Given the description of an element on the screen output the (x, y) to click on. 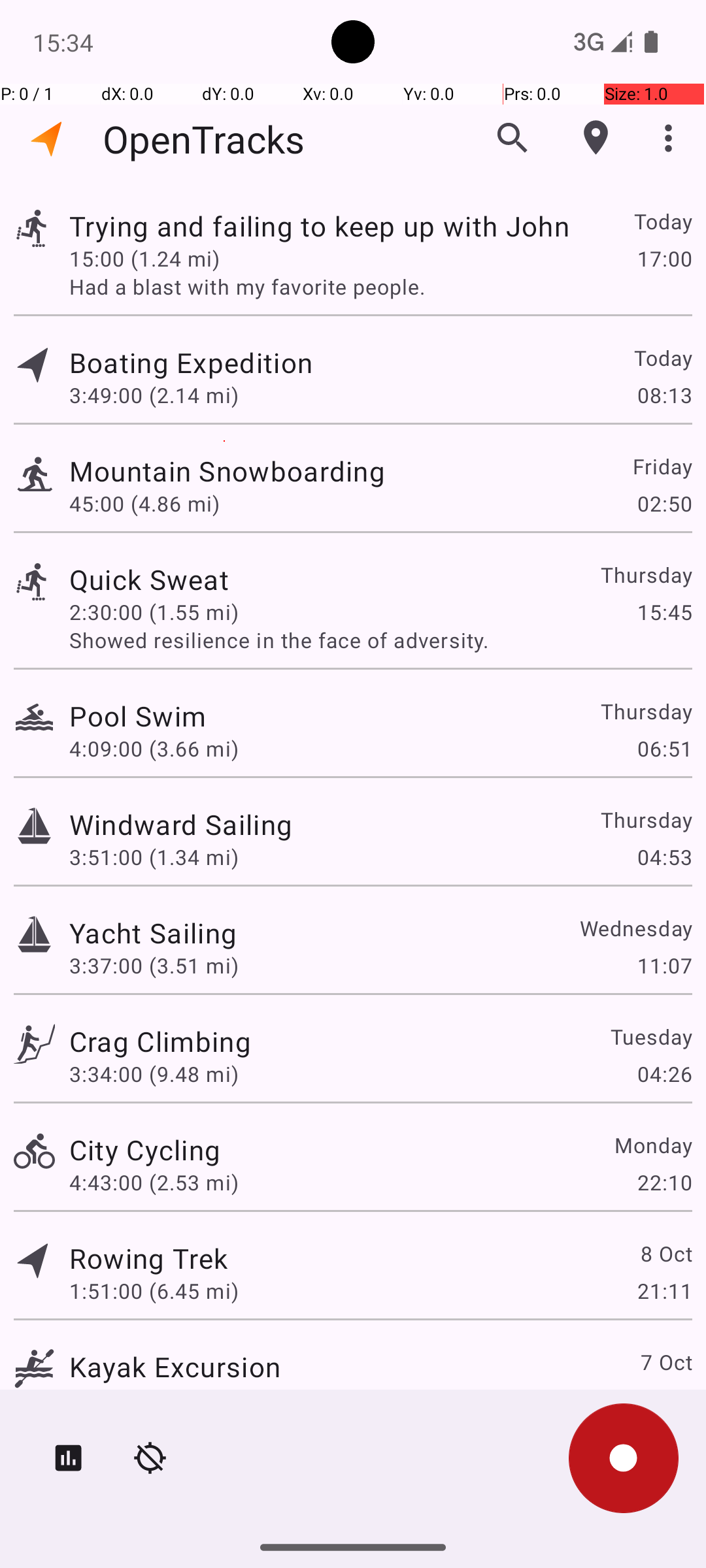
OpenTracks Element type: android.widget.TextView (203, 138)
Markers Element type: android.widget.Button (595, 137)
Record Element type: android.widget.ImageButton (623, 1458)
Track Element type: android.widget.ImageView (33, 227)
Trying and failing to keep up with John Element type: android.widget.TextView (319, 225)
Today Element type: android.widget.TextView (662, 221)
15:00 (1.24 mi) Element type: android.widget.TextView (144, 258)
Had a blast with my favorite people. Element type: android.widget.TextView (380, 286)
Boating Expedition Element type: android.widget.TextView (190, 361)
3:49:00 (2.14 mi) Element type: android.widget.TextView (153, 394)
08:13 Element type: android.widget.TextView (664, 394)
Mountain Snowboarding Element type: android.widget.TextView (226, 470)
Friday Element type: android.widget.TextView (661, 466)
45:00 (4.86 mi) Element type: android.widget.TextView (144, 503)
02:50 Element type: android.widget.TextView (664, 503)
Quick Sweat Element type: android.widget.TextView (148, 578)
Thursday Element type: android.widget.TextView (645, 574)
2:30:00 (1.55 mi) Element type: android.widget.TextView (153, 611)
15:45 Element type: android.widget.TextView (664, 611)
Showed resilience in the face of adversity. Element type: android.widget.TextView (380, 639)
Pool Swim Element type: android.widget.TextView (137, 715)
4:09:00 (3.66 mi) Element type: android.widget.TextView (153, 748)
06:51 Element type: android.widget.TextView (664, 748)
Windward Sailing Element type: android.widget.TextView (180, 823)
3:51:00 (1.34 mi) Element type: android.widget.TextView (153, 856)
04:53 Element type: android.widget.TextView (664, 856)
Yacht Sailing Element type: android.widget.TextView (152, 932)
Wednesday Element type: android.widget.TextView (635, 928)
3:37:00 (3.51 mi) Element type: android.widget.TextView (153, 965)
11:07 Element type: android.widget.TextView (664, 965)
Crag Climbing Element type: android.widget.TextView (159, 1040)
Tuesday Element type: android.widget.TextView (650, 1036)
3:34:00 (9.48 mi) Element type: android.widget.TextView (153, 1073)
04:26 Element type: android.widget.TextView (664, 1073)
City Cycling Element type: android.widget.TextView (144, 1149)
Monday Element type: android.widget.TextView (652, 1144)
4:43:00 (2.53 mi) Element type: android.widget.TextView (153, 1182)
22:10 Element type: android.widget.TextView (664, 1182)
Rowing Trek Element type: android.widget.TextView (148, 1257)
8 Oct Element type: android.widget.TextView (665, 1253)
1:51:00 (6.45 mi) Element type: android.widget.TextView (153, 1290)
21:11 Element type: android.widget.TextView (664, 1290)
Kayak Excursion Element type: android.widget.TextView (174, 1366)
7 Oct Element type: android.widget.TextView (665, 1361)
2:48:00 (3.37 mi) Element type: android.widget.TextView (153, 1399)
08:27 Element type: android.widget.TextView (664, 1399)
